Given the description of an element on the screen output the (x, y) to click on. 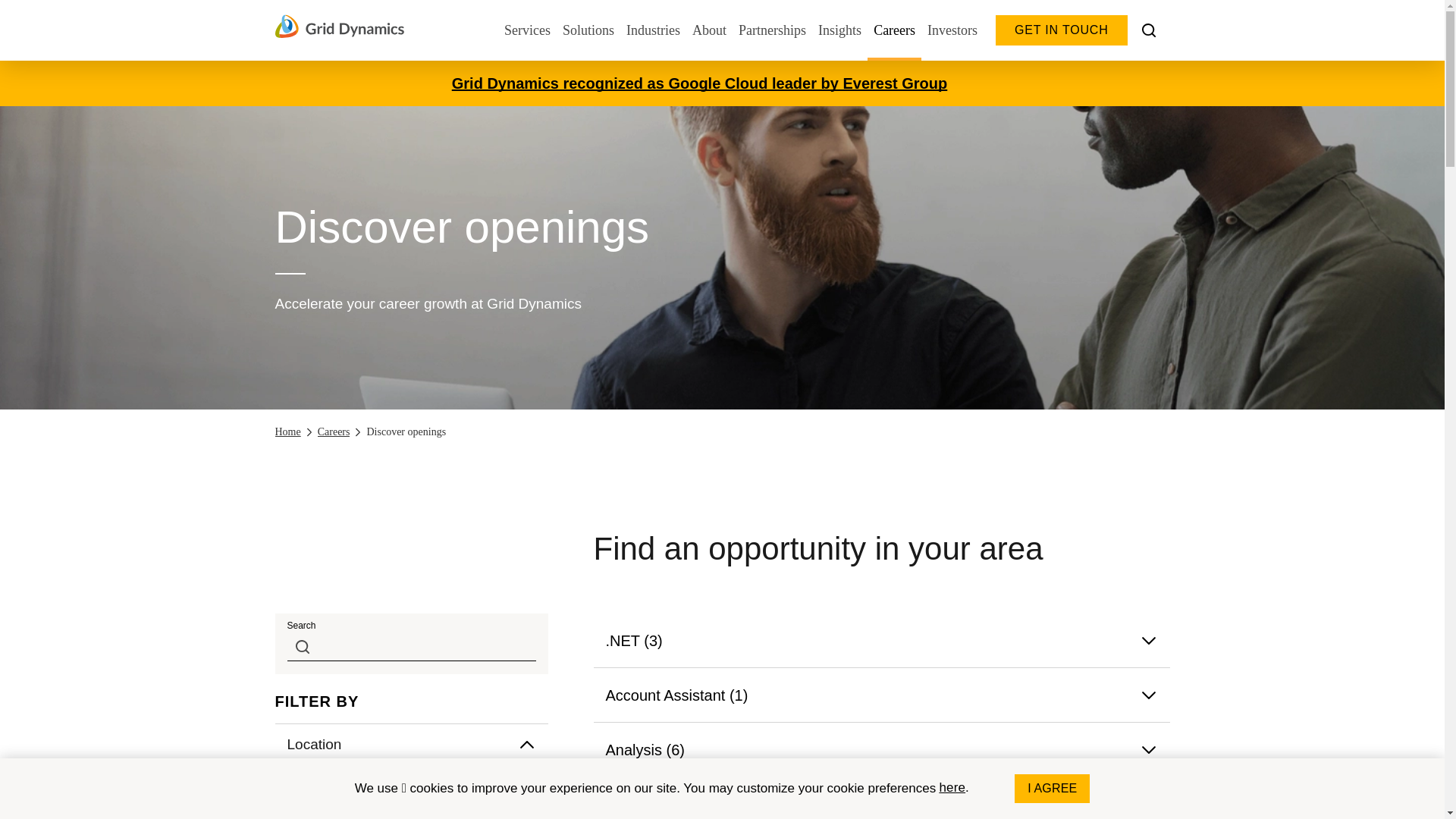
Investors (952, 30)
Services (526, 30)
Partnerships (772, 30)
GET IN TOUCH (1060, 30)
Insights (839, 30)
Solutions (588, 30)
Industries (652, 30)
